Given the description of an element on the screen output the (x, y) to click on. 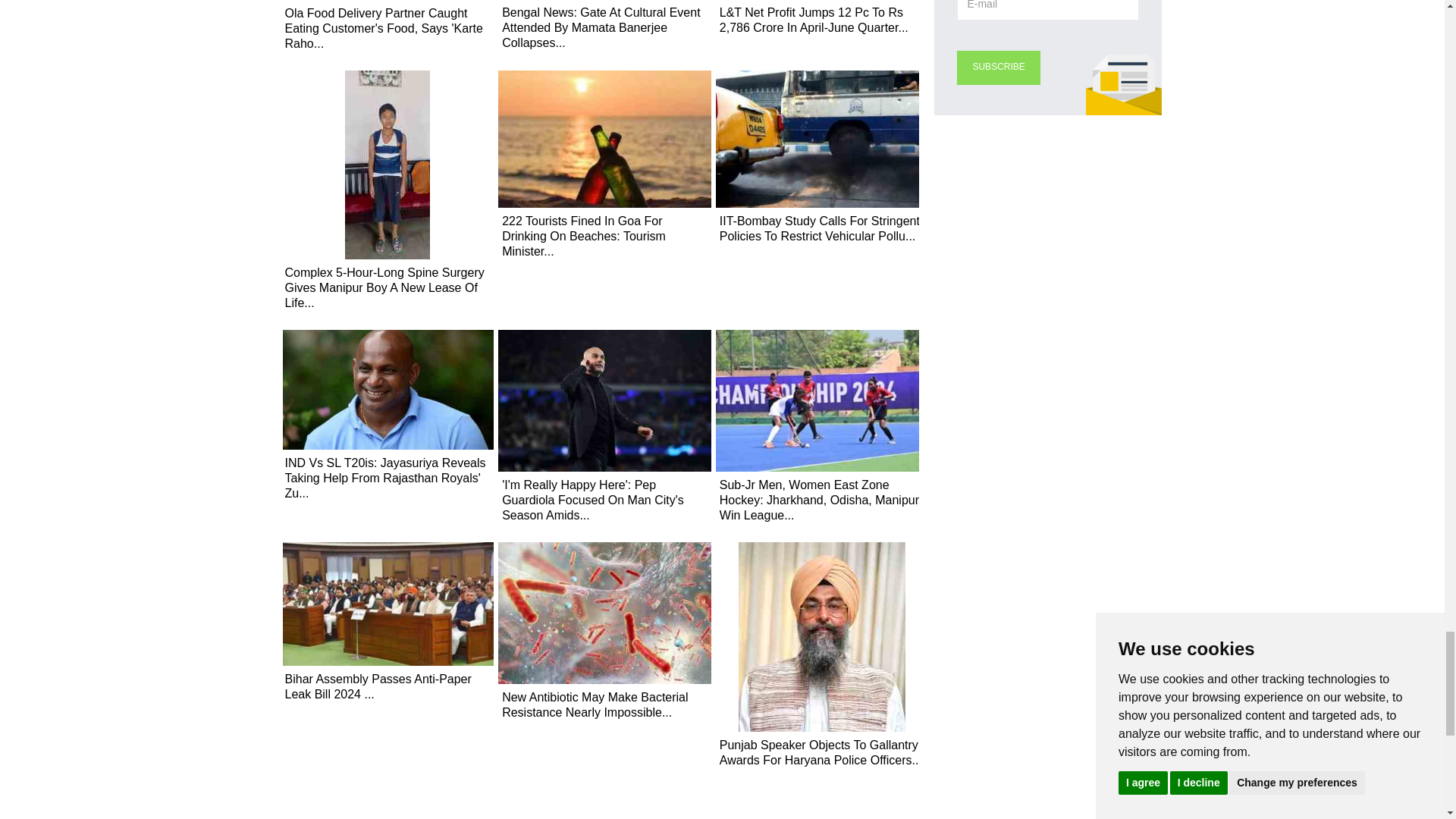
Subscribe (997, 67)
